Given the description of an element on the screen output the (x, y) to click on. 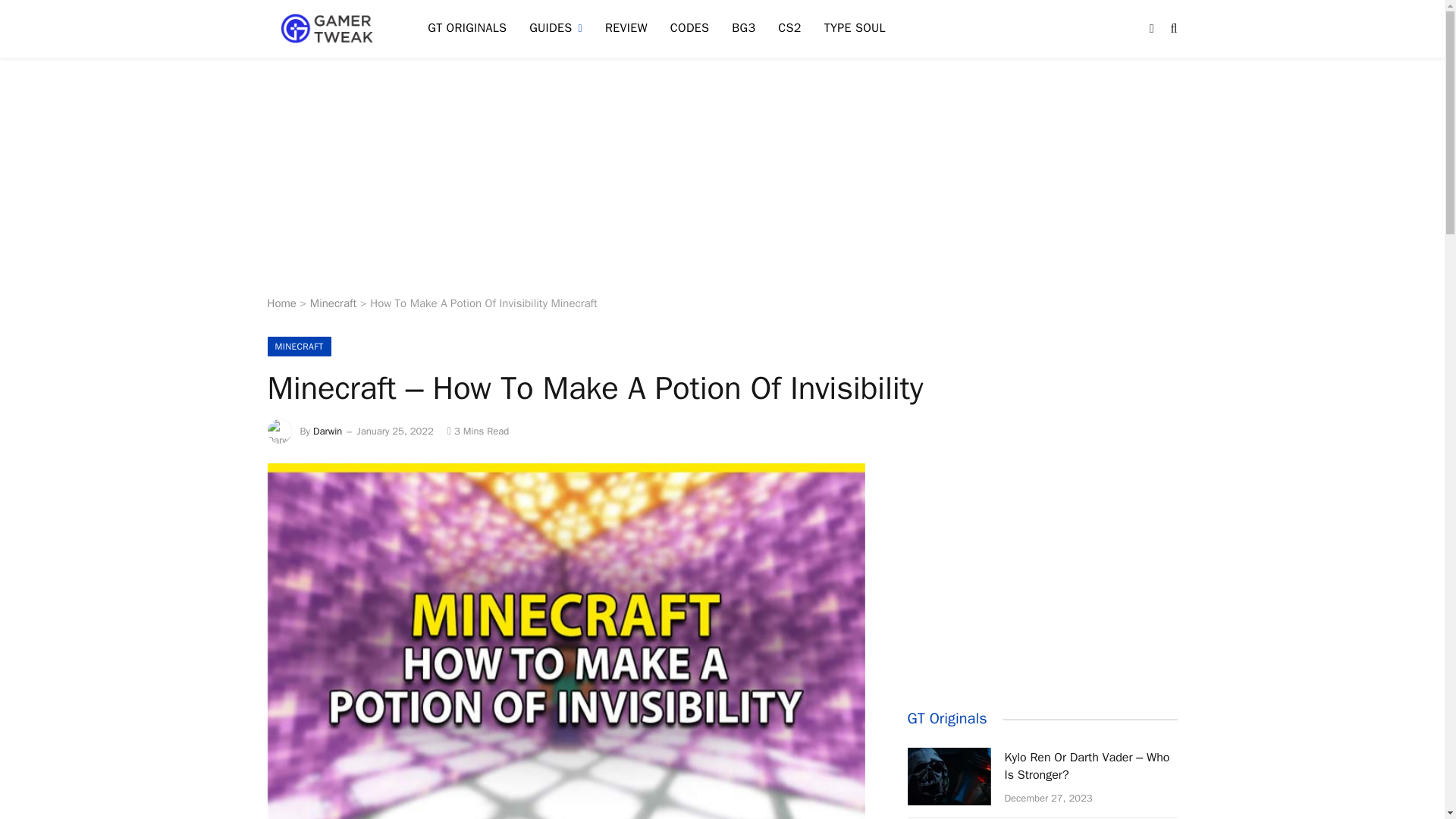
Posts by Darwin (327, 431)
TYPE SOUL (854, 28)
Gamer Tweak (328, 28)
Minecraft (333, 303)
Darwin (327, 431)
Home (280, 303)
Switch to Dark Design - easier on eyes. (1151, 28)
MINECRAFT (298, 346)
CODES (689, 28)
GUIDES (556, 28)
REVIEW (626, 28)
GT ORIGINALS (467, 28)
